Given the description of an element on the screen output the (x, y) to click on. 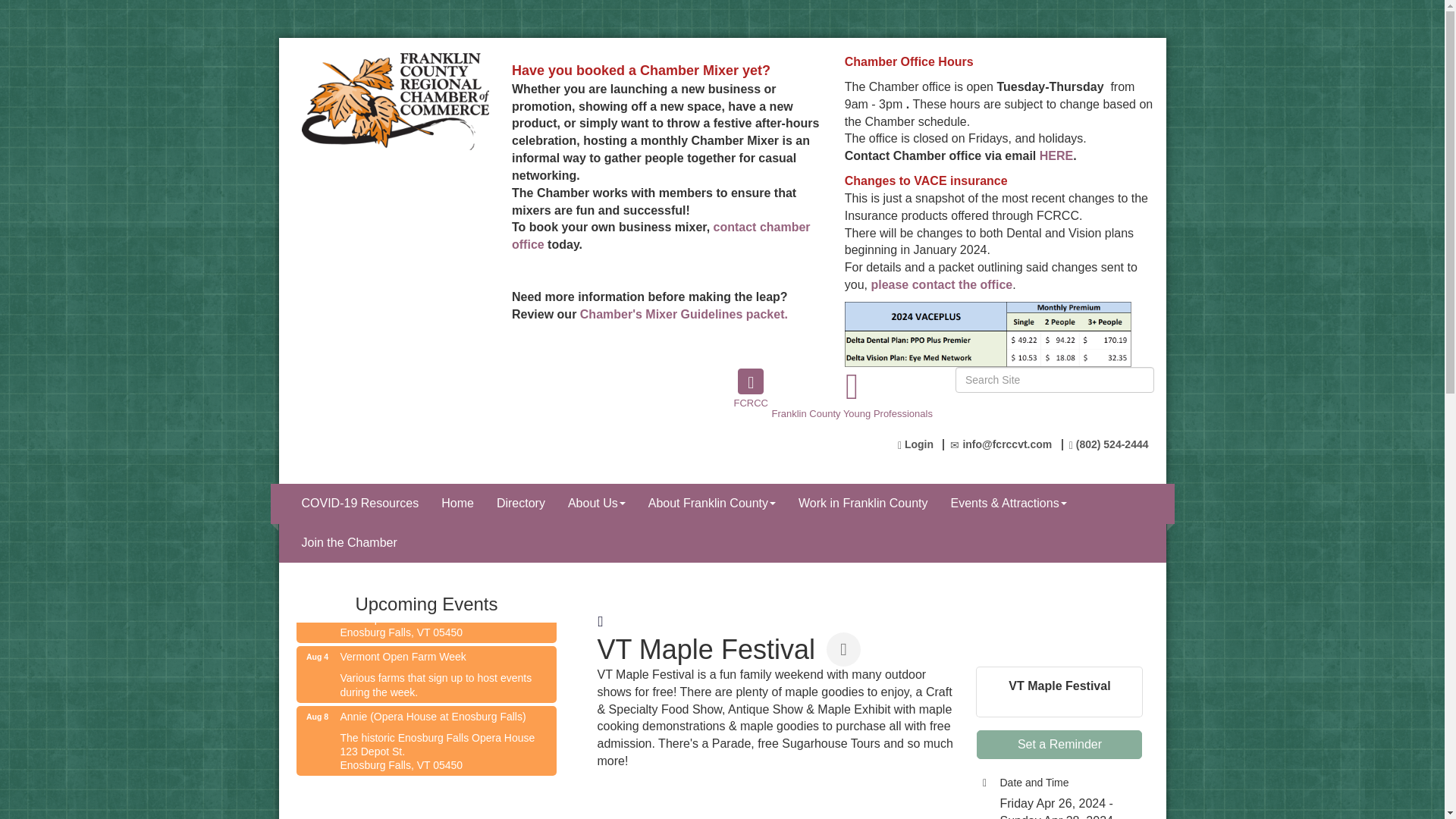
COVID-19 Resources (359, 503)
Aug 8 (317, 716)
Various farms that sign up to host events during the week. (425, 684)
Vermont Open Farm Week (425, 656)
contact chamber office (661, 235)
Aug 4 (317, 656)
FCRCC (750, 380)
please contact the office (939, 284)
